Given the description of an element on the screen output the (x, y) to click on. 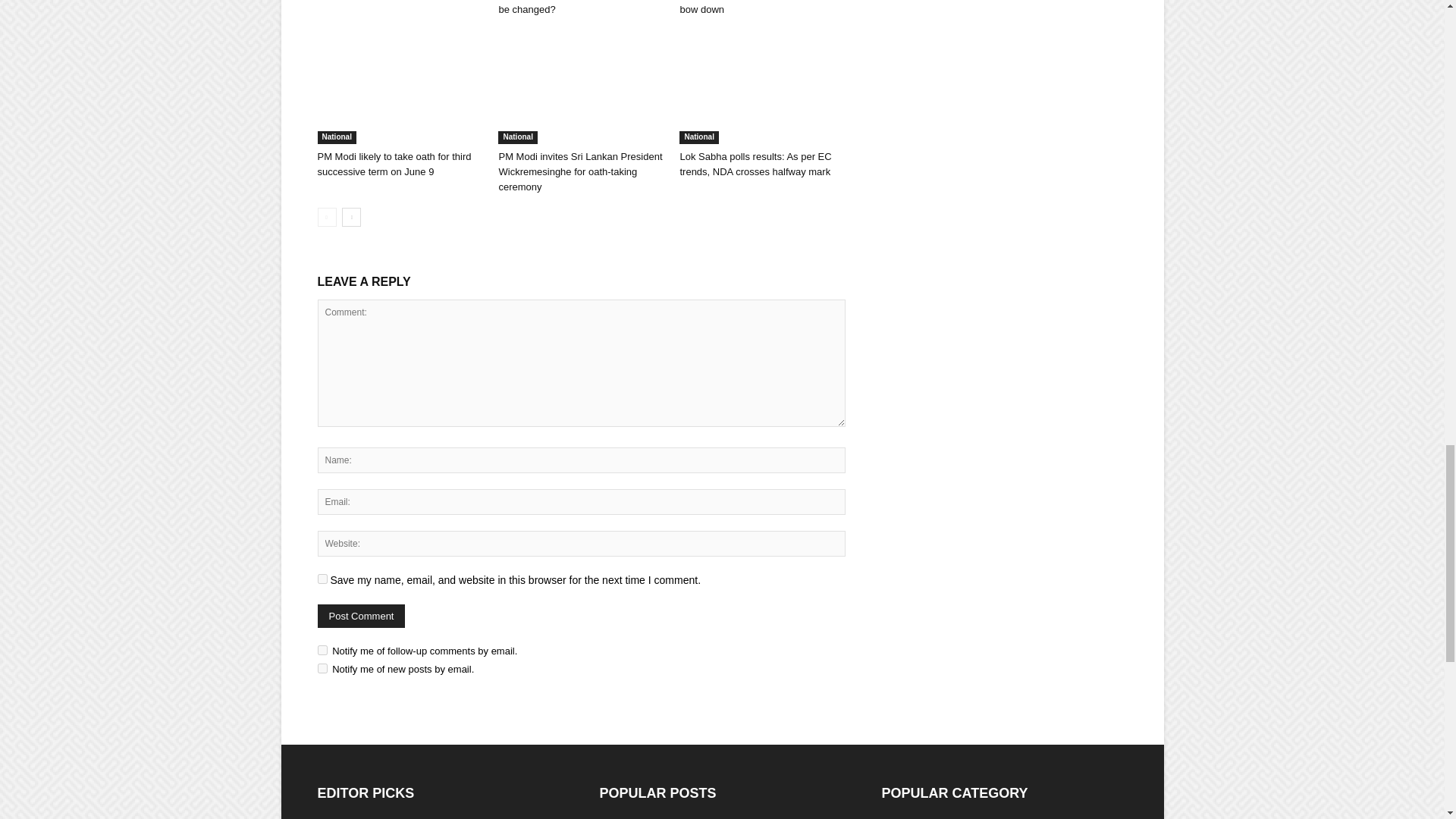
yes (321, 578)
subscribe (321, 668)
subscribe (321, 650)
Post Comment (360, 616)
